Given the description of an element on the screen output the (x, y) to click on. 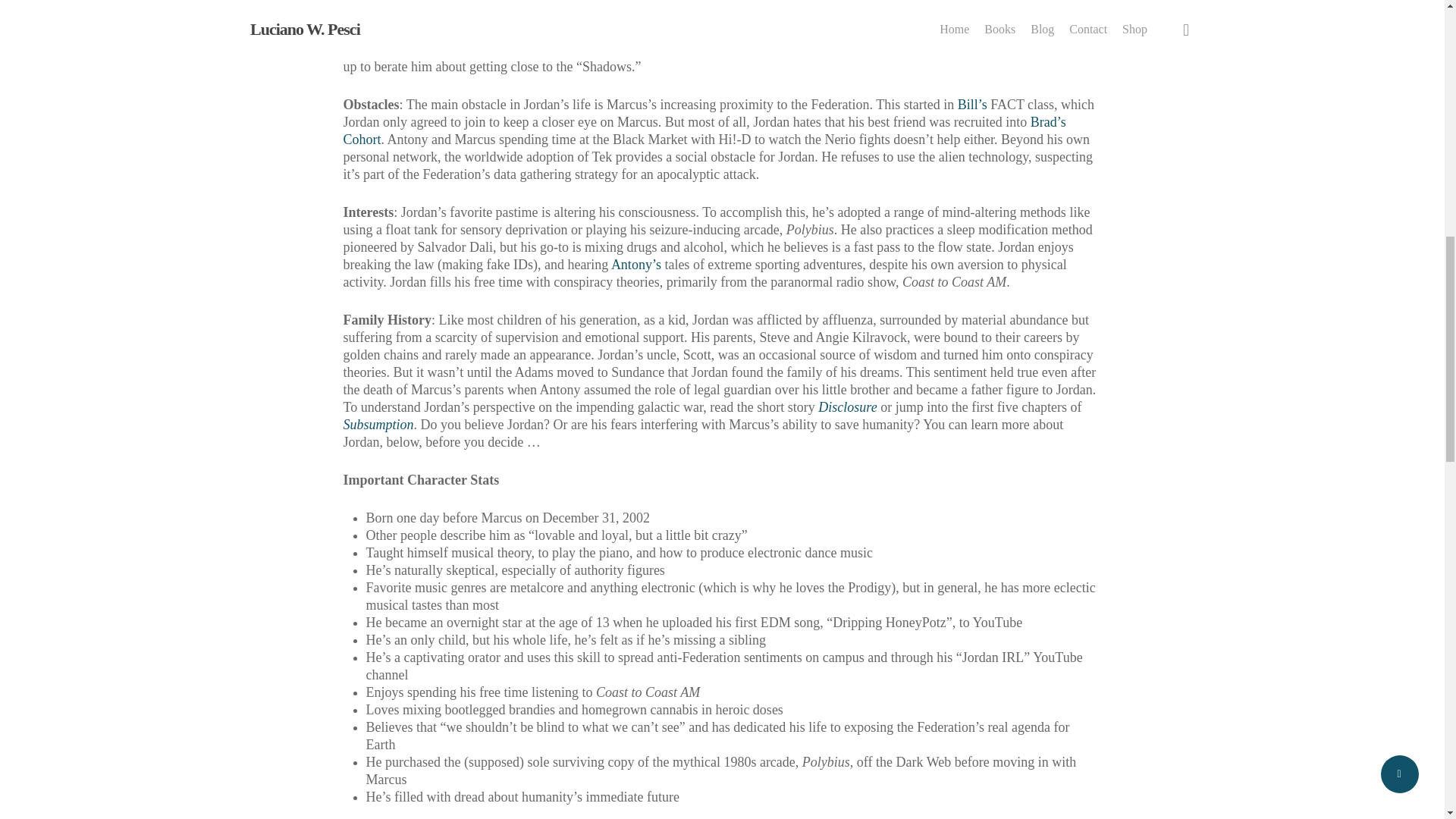
Subsumption (377, 424)
Dianna (1045, 14)
Disclosure (847, 406)
